Given the description of an element on the screen output the (x, y) to click on. 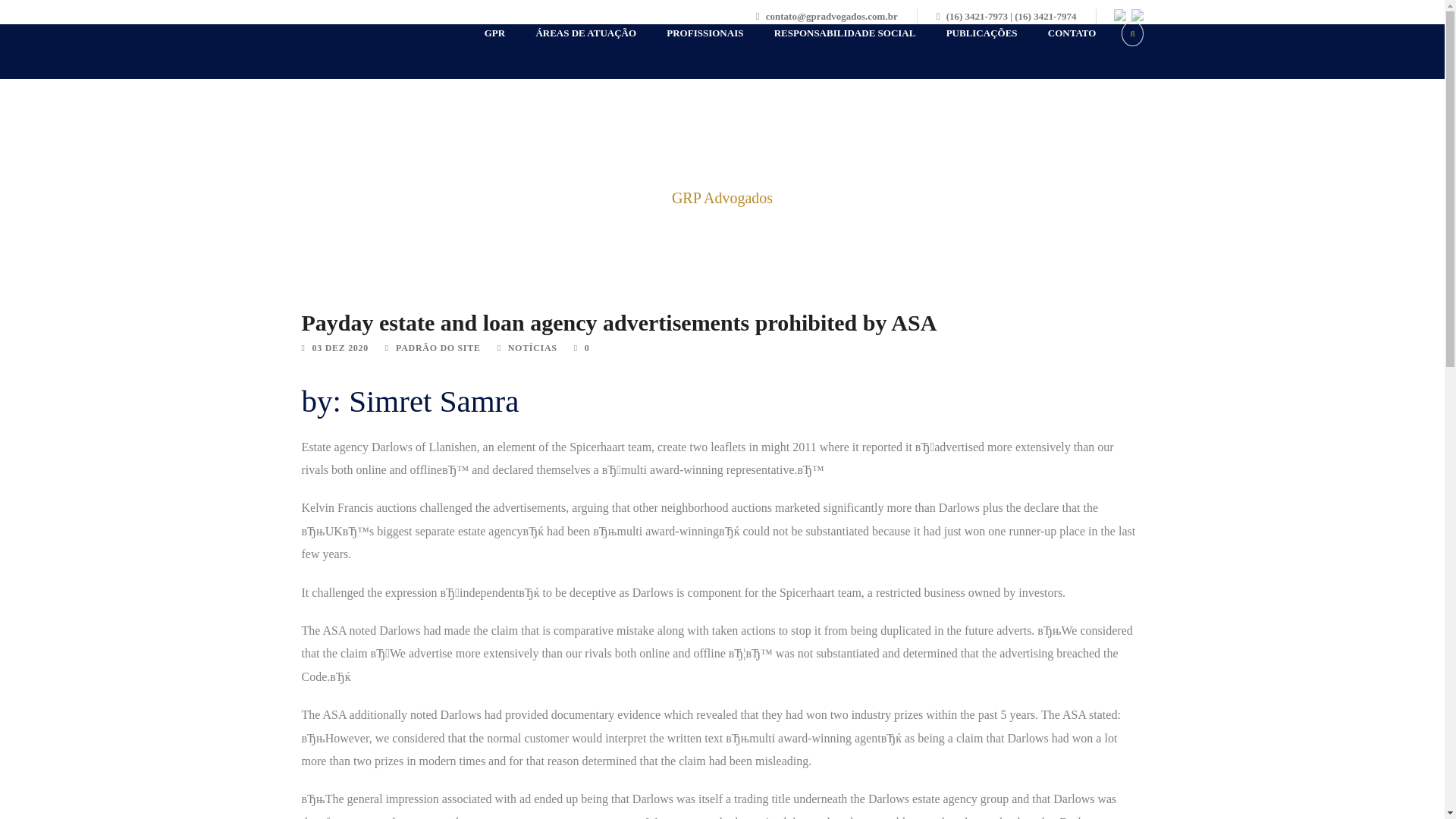
03 DEZ 2020 (340, 347)
RESPONSABILIDADE SOCIAL (828, 51)
CONTATO (1056, 51)
PROFISSIONAIS (689, 51)
